Given the description of an element on the screen output the (x, y) to click on. 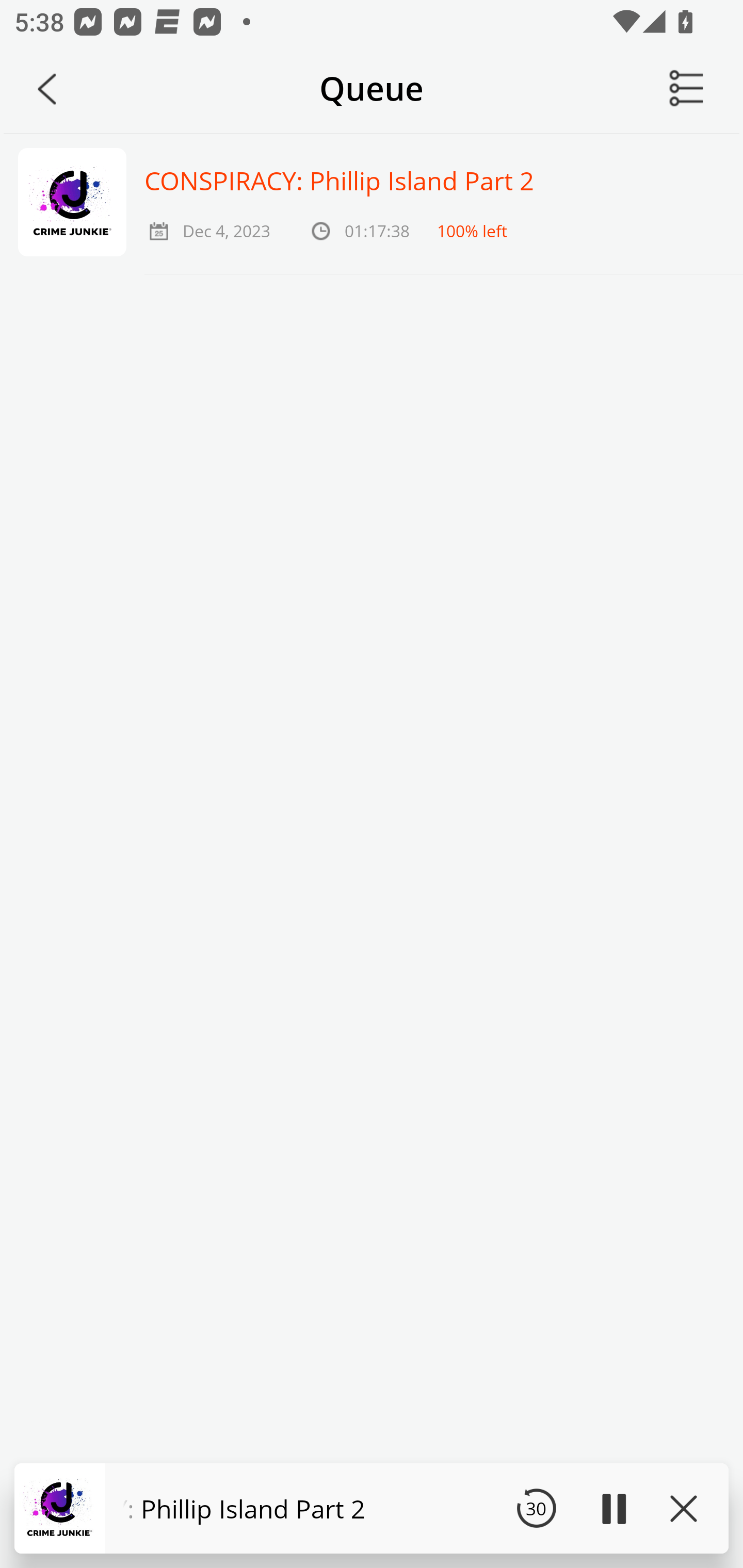
Back (46, 88)
Play (613, 1507)
30 Seek Backward (536, 1508)
